Given the description of an element on the screen output the (x, y) to click on. 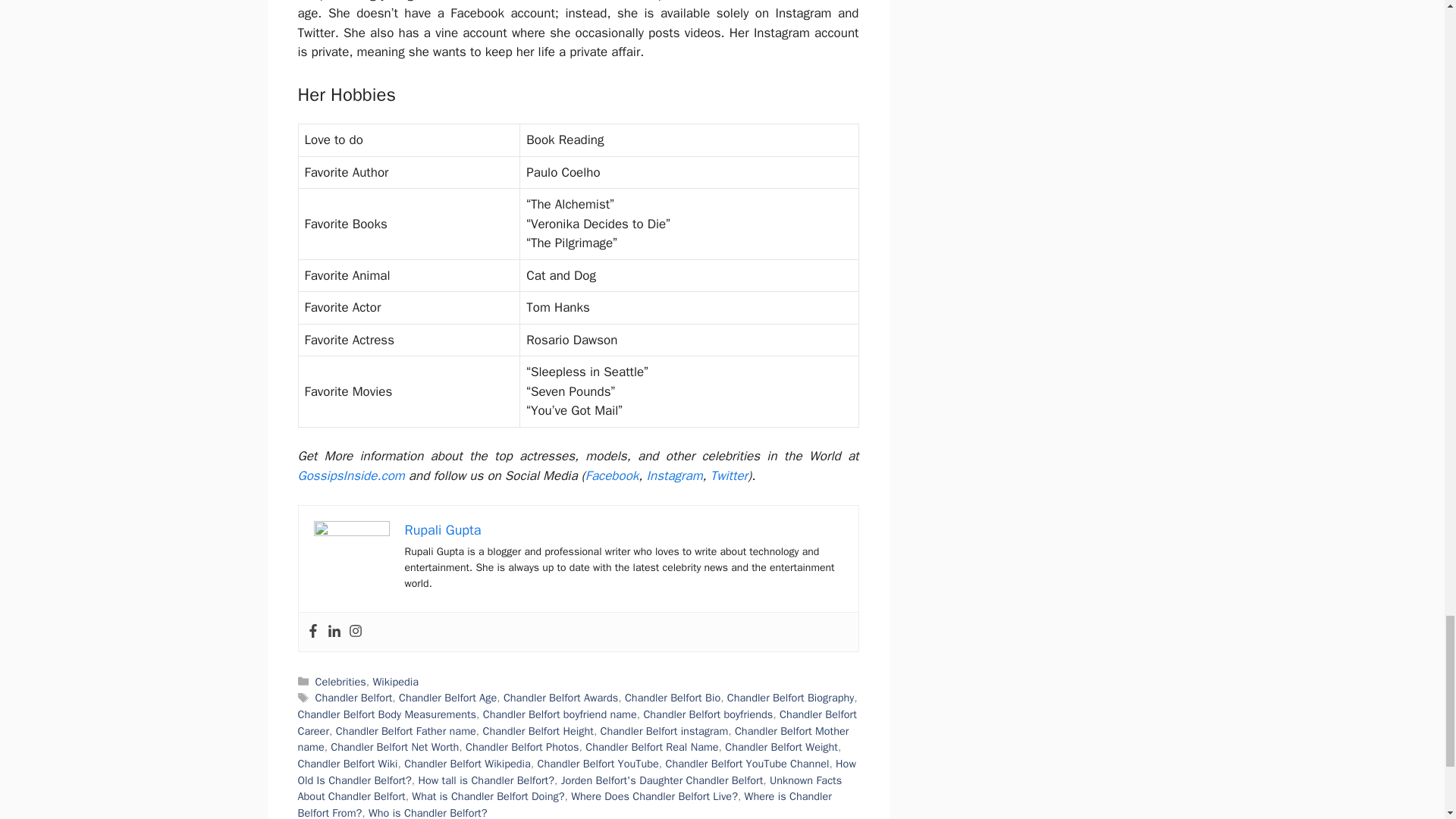
Chandler Belfort (354, 697)
Chandler Belfort Body Measurements (386, 714)
Linkedin (333, 631)
Chandler Belfort Age (447, 697)
Chandler Belfort Father name (406, 730)
Chandler Belfort boyfriend name (560, 714)
Chandler Belfort Awards (560, 697)
Chandler Belfort Biography (790, 697)
Instagram (355, 631)
Facebook (612, 475)
Chandler Belfort Height (536, 730)
Facebook (312, 631)
Instagram (674, 475)
Chandler Belfort instagram (664, 730)
Chandler Belfort Mother name (572, 738)
